Given the description of an element on the screen output the (x, y) to click on. 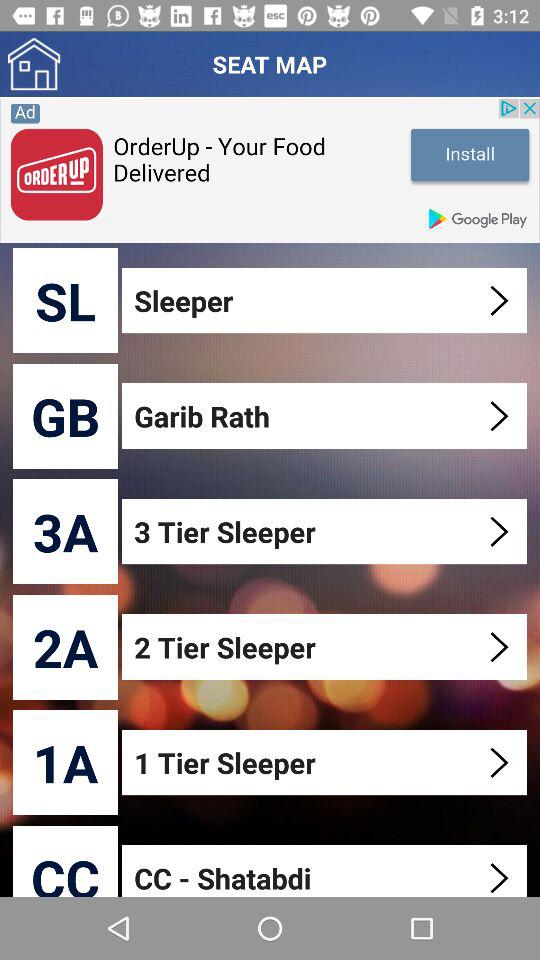
tap the item below the sleeper (326, 415)
